Given the description of an element on the screen output the (x, y) to click on. 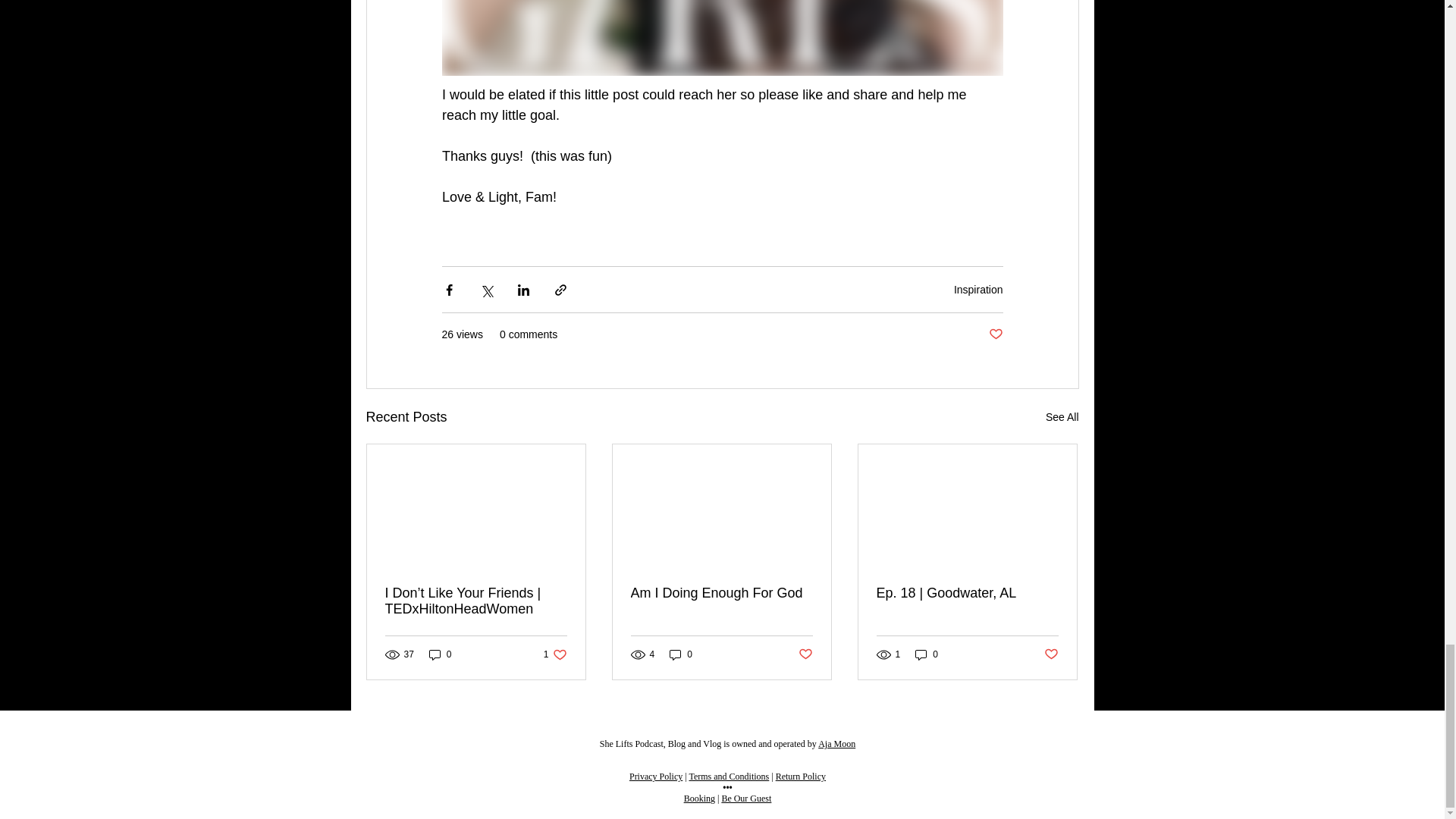
Am I Doing Enough For God (555, 654)
See All (721, 593)
Inspiration (1061, 417)
0 (978, 289)
Post not marked as liked (681, 654)
0 (995, 334)
